Given the description of an element on the screen output the (x, y) to click on. 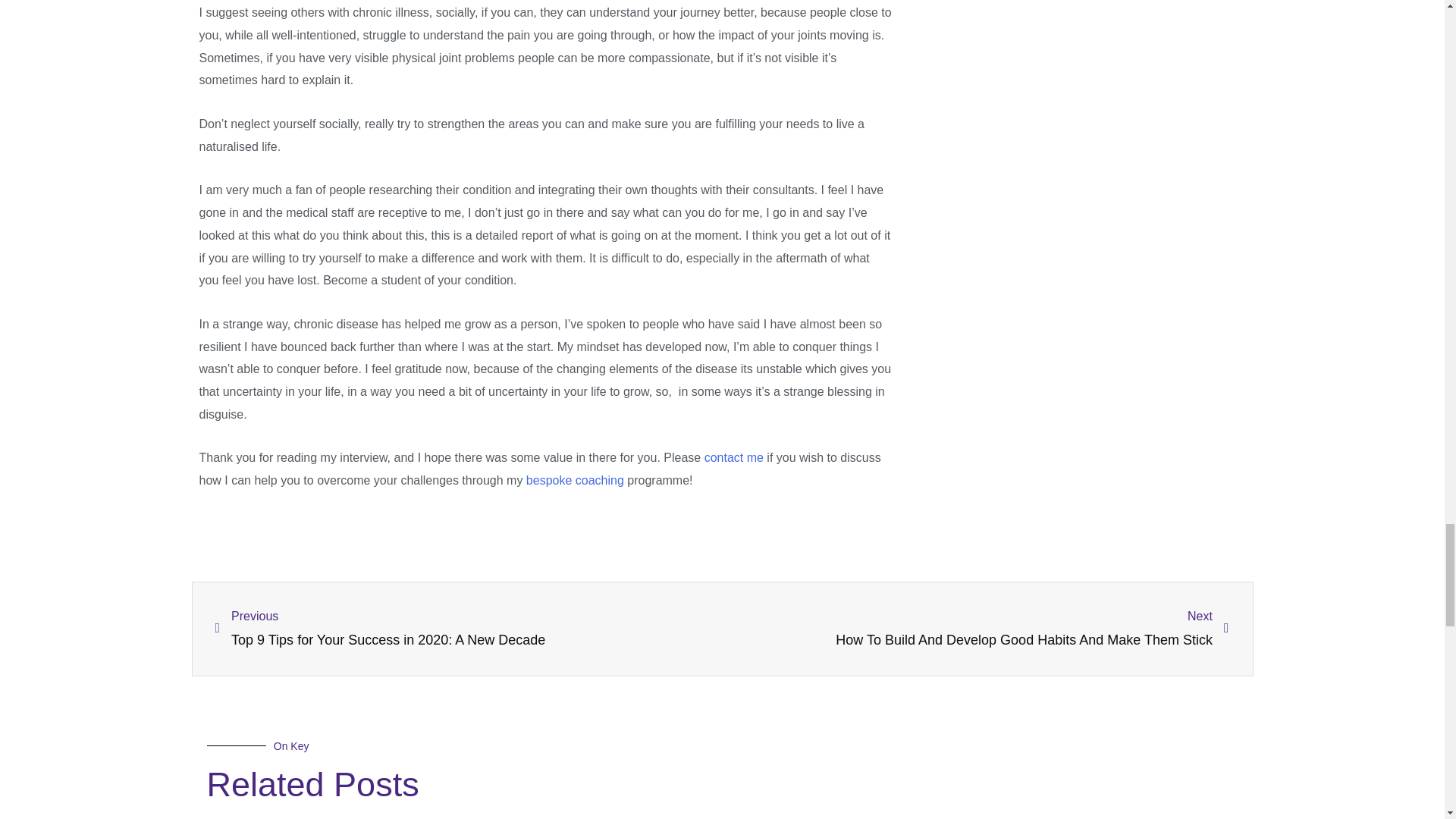
bespoke coaching (574, 480)
contact me (733, 457)
